Given the description of an element on the screen output the (x, y) to click on. 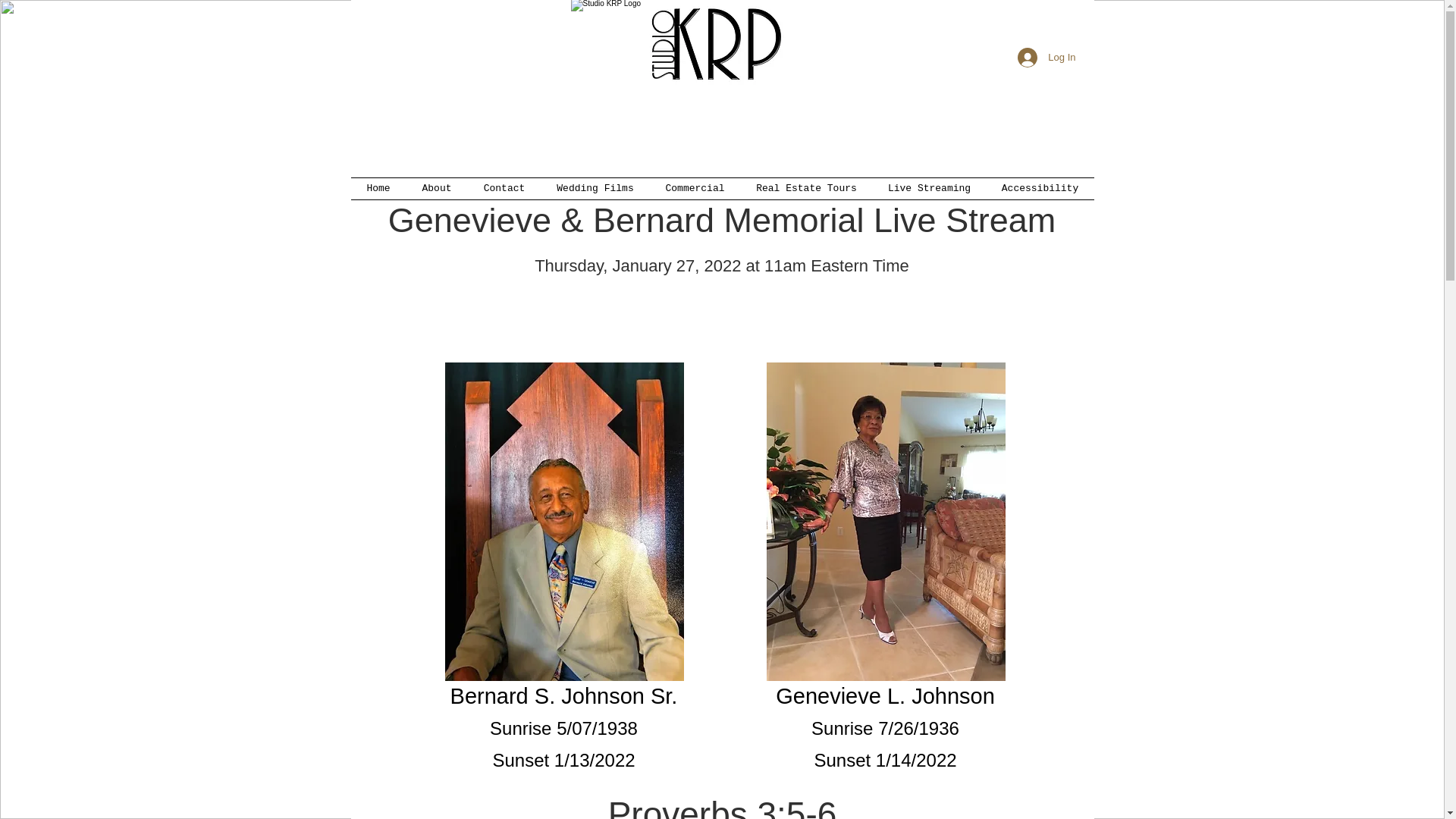
Real Estate Tours (805, 188)
About (436, 188)
Home (378, 188)
logo.jpg (712, 44)
logo.jpg (708, 77)
Accessibility (1039, 188)
Live Streaming (928, 188)
Wedding Films (595, 188)
Contact (503, 188)
Log In (1046, 57)
Commercial (694, 188)
